Given the description of an element on the screen output the (x, y) to click on. 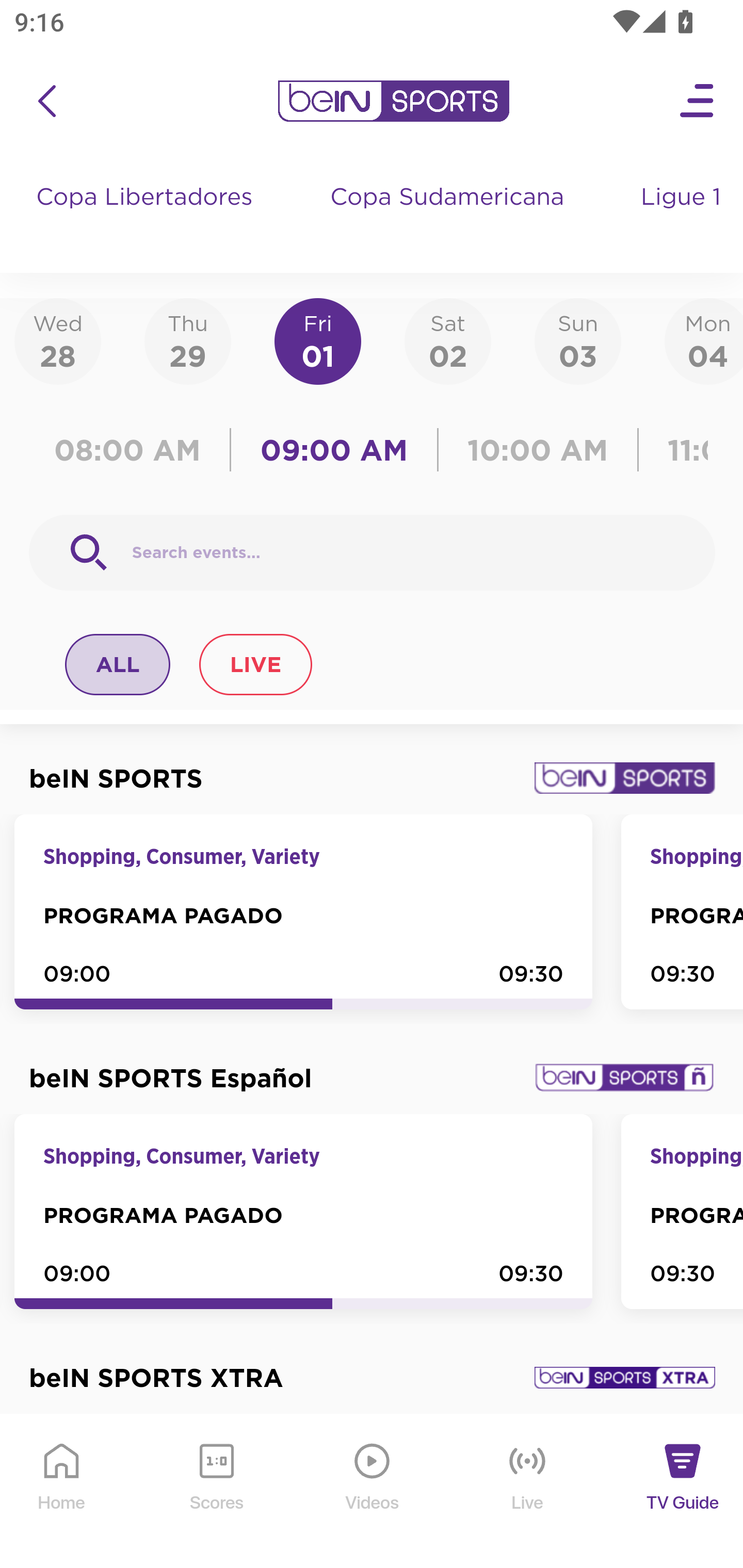
en-us?platform=mobile_android bein logo (392, 101)
icon back (46, 101)
Open Menu Icon (697, 101)
Copa Libertadores (146, 216)
Copa Sudamericana (448, 216)
Ligue 1 (682, 216)
Wed28 (58, 340)
Thu29 (187, 340)
Fri01 (318, 340)
Sat02 (447, 340)
Sun03 (578, 340)
Mon04 (703, 340)
08:00 AM (134, 449)
09:00 AM (334, 449)
10:00 AM (537, 449)
ALL (118, 663)
LIVE (255, 663)
Home Home Icon Home (61, 1491)
Scores Scores Icon Scores (216, 1491)
Videos Videos Icon Videos (372, 1491)
TV Guide TV Guide Icon TV Guide (682, 1491)
